Given the description of an element on the screen output the (x, y) to click on. 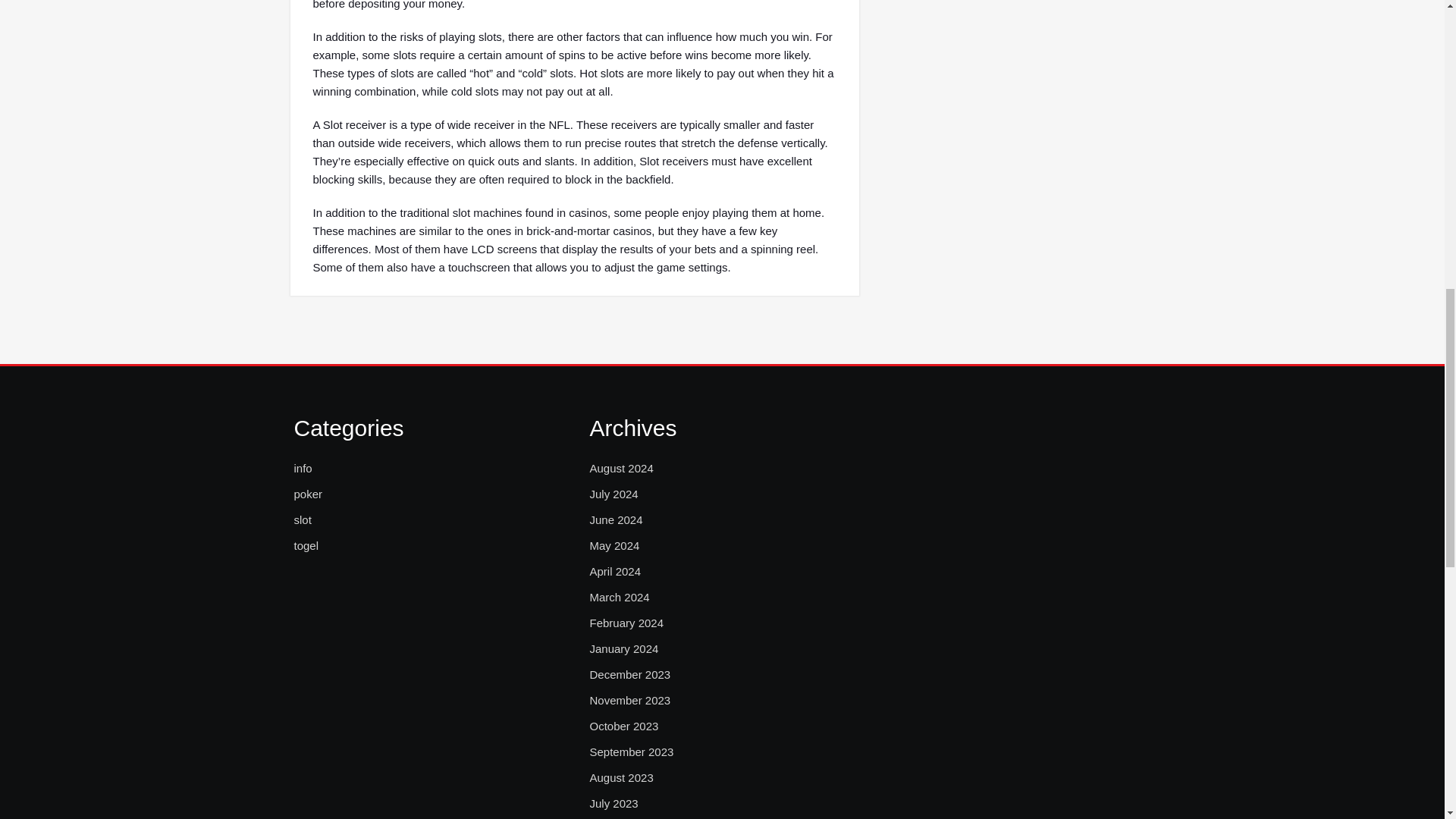
August 2024 (620, 468)
slot (302, 520)
November 2023 (629, 700)
December 2023 (629, 674)
February 2024 (626, 623)
poker (308, 494)
September 2023 (630, 751)
May 2024 (614, 546)
info (303, 468)
January 2024 (623, 648)
April 2024 (614, 571)
August 2023 (620, 778)
June 2024 (615, 520)
July 2023 (613, 803)
March 2024 (619, 597)
